Given the description of an element on the screen output the (x, y) to click on. 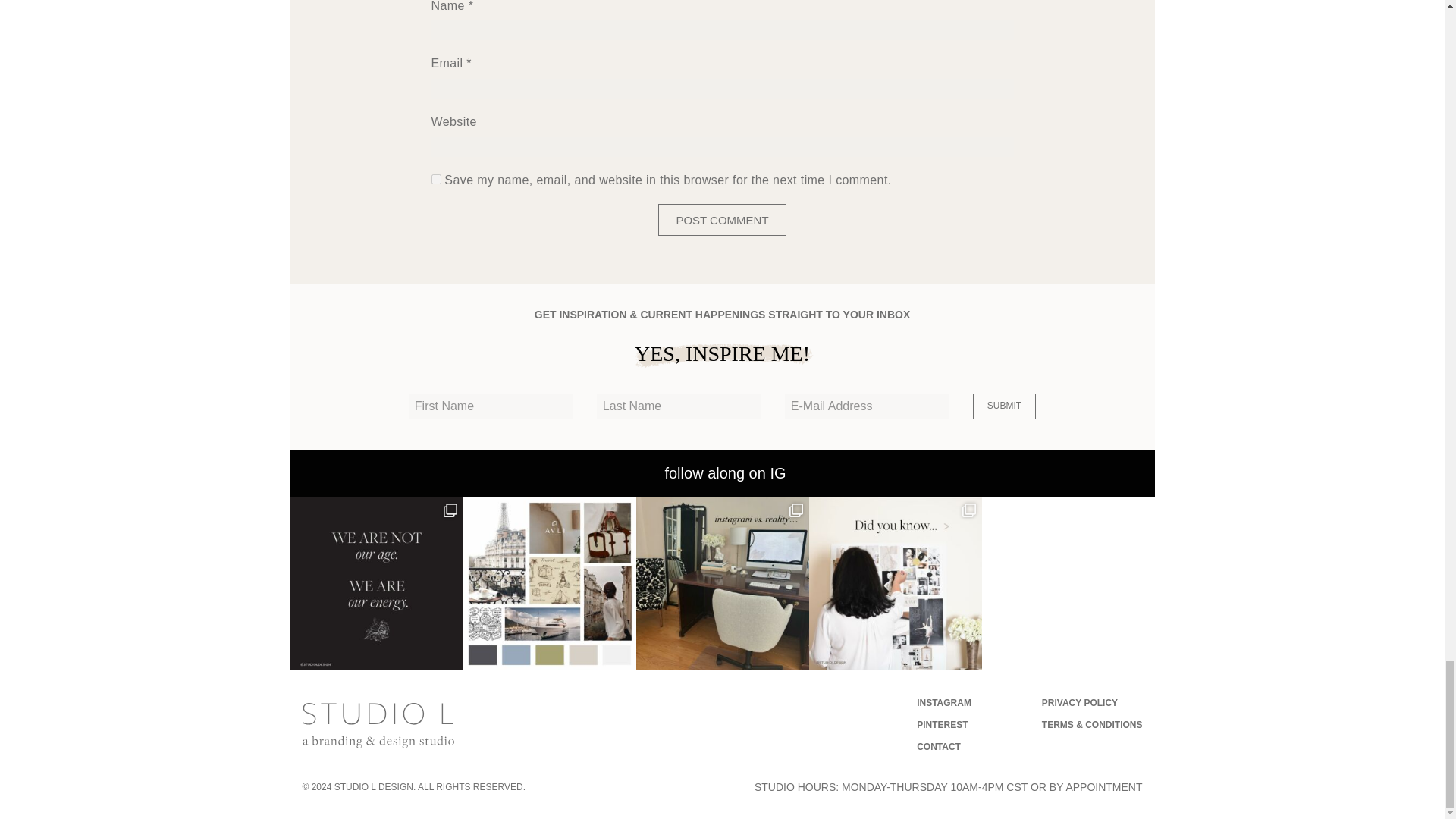
SUBMIT (1003, 406)
PRIVACY POLICY (1080, 702)
PINTEREST (942, 724)
Post Comment (722, 219)
yes (435, 179)
Post Comment (722, 219)
CONTACT (938, 747)
INSTAGRAM (944, 702)
